Given the description of an element on the screen output the (x, y) to click on. 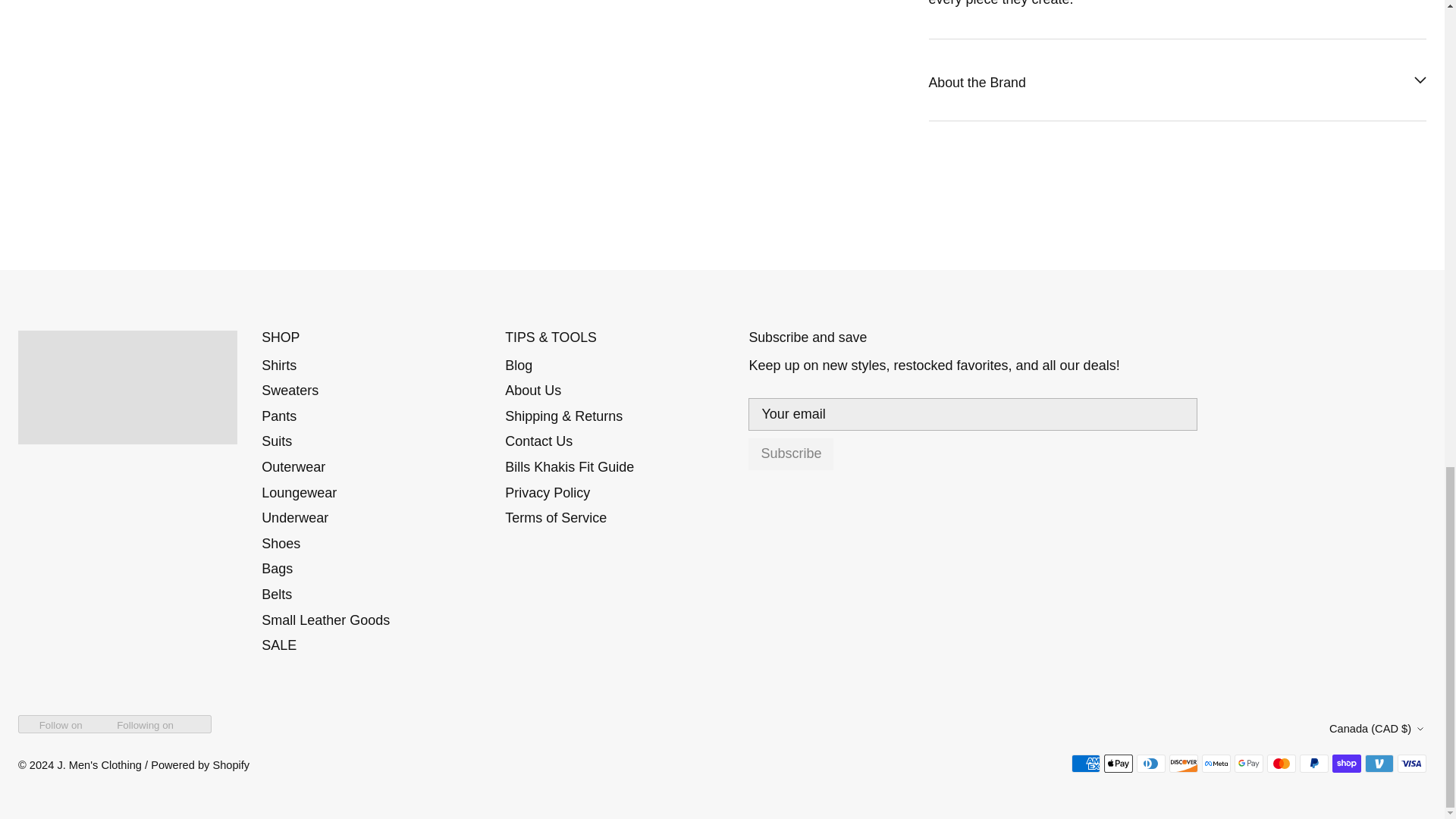
Diners Club (1151, 763)
American Express (1085, 763)
Shop Pay (1346, 763)
Google Pay (1248, 763)
Venmo (1379, 763)
PayPal (1313, 763)
Visa (1411, 763)
Mastercard (1280, 763)
Meta Pay (1216, 763)
Discover (1183, 763)
Apple Pay (1117, 763)
